Given the description of an element on the screen output the (x, y) to click on. 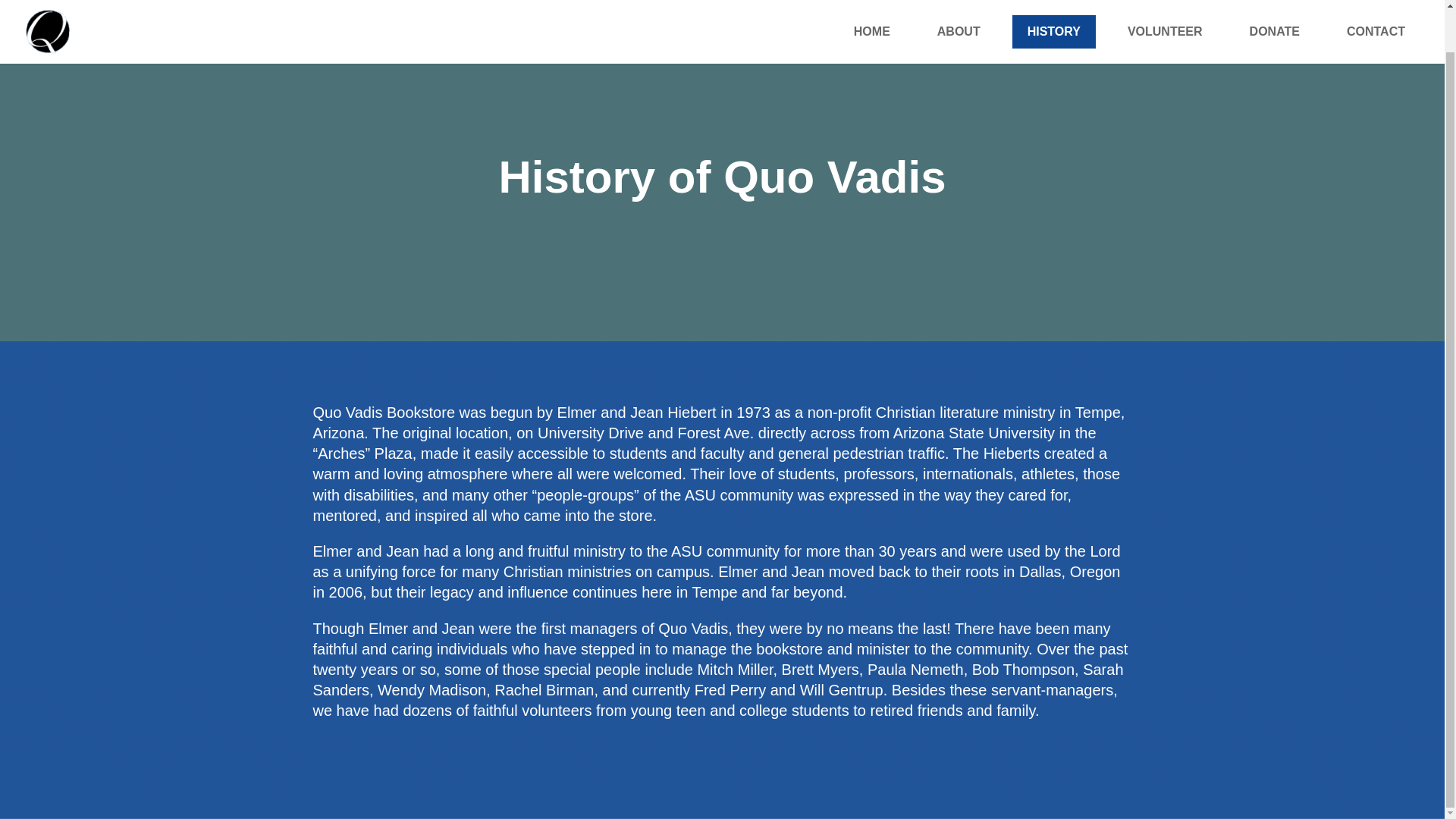
HISTORY (1053, 2)
DONATE (1274, 2)
VOLUNTEER (1164, 2)
HOME (871, 2)
CONTACT (1376, 2)
ABOUT (958, 2)
